Given the description of an element on the screen output the (x, y) to click on. 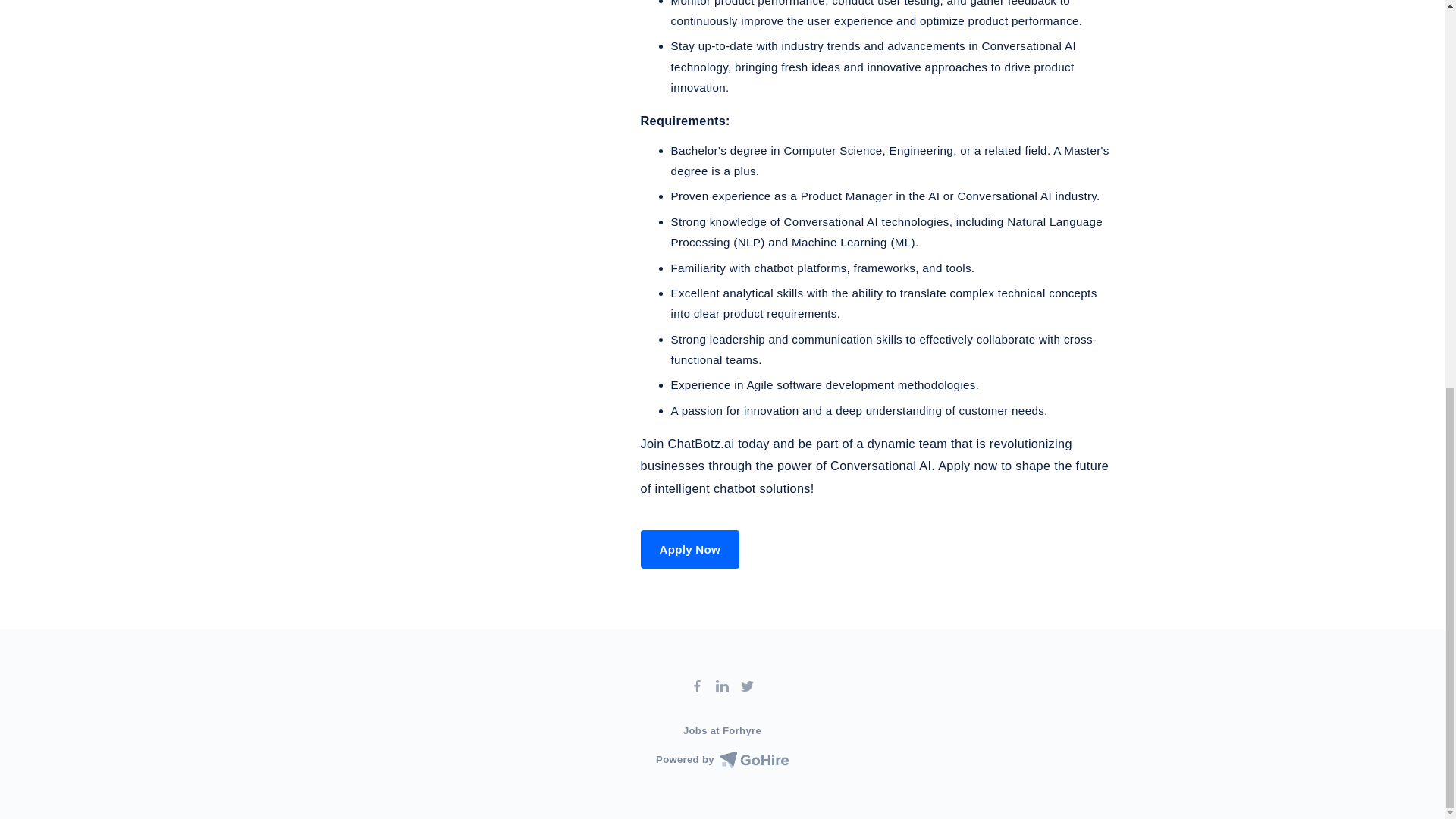
Apply Now (689, 548)
Powered by (722, 759)
